Given the description of an element on the screen output the (x, y) to click on. 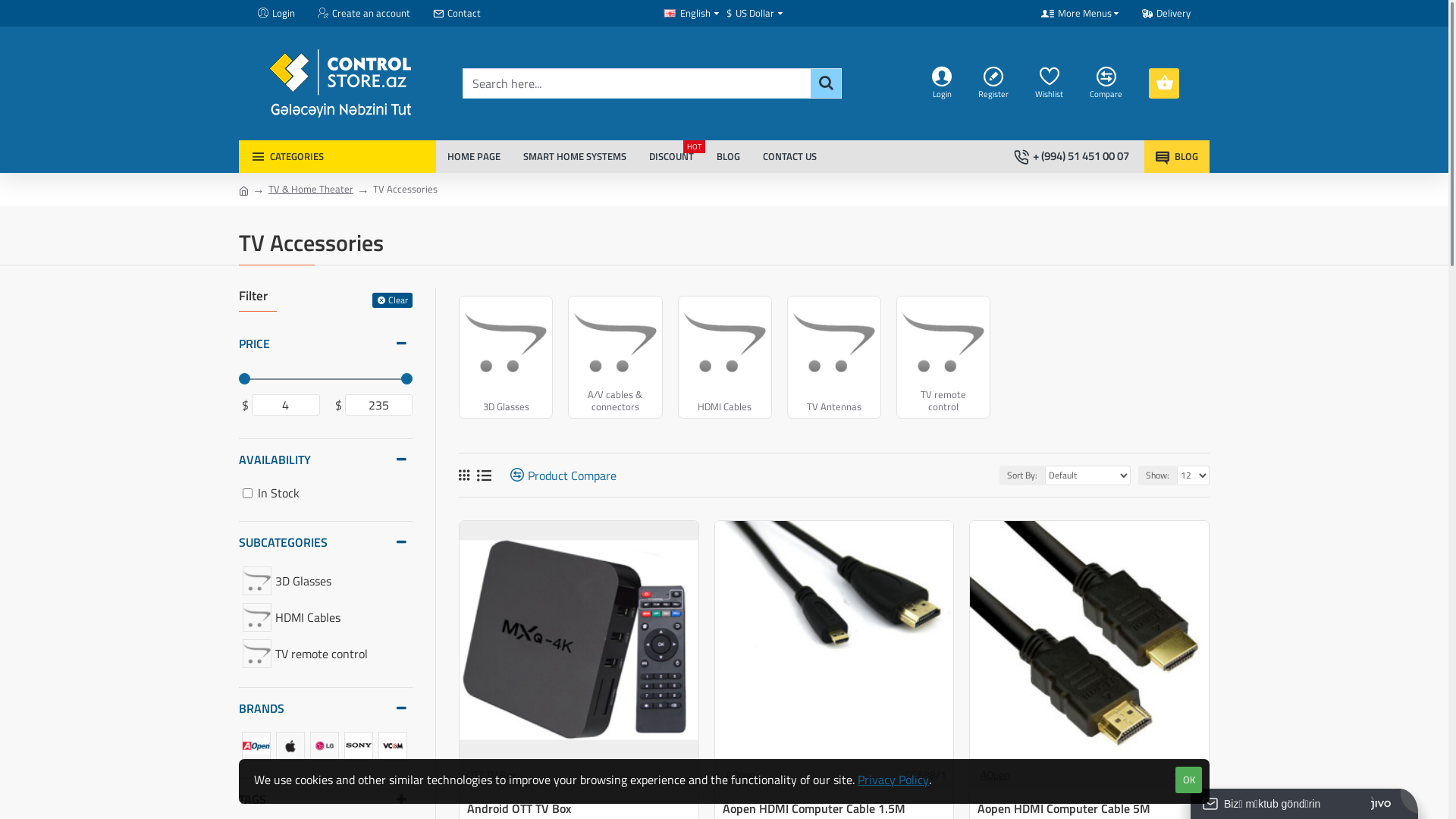
AVAILABILITY Element type: text (325, 459)
Privacy Policy Element type: text (892, 779)
Delivery Element type: text (1166, 13)
Product Compare Element type: text (557, 474)
SUBCATEGORIES Element type: text (325, 541)
BLOG Element type: text (1176, 156)
Aopen HDMI Computer  Cable 1.5M Element type: hover (834, 639)
HDMI Cables Element type: hover (256, 616)
TV remote control Element type: text (943, 356)
More Menus Element type: text (1080, 13)
TV Accessories Element type: text (405, 189)
English Element type: hover (670, 13)
$
US Dollar Element type: text (750, 13)
AOpen Element type: text (995, 774)
+ (994) 51 451 00 07 Element type: text (1073, 156)
Clear Element type: text (392, 299)
A/V cables & connectors Element type: text (614, 356)
Contact Element type: text (456, 13)
BRANDS Element type: text (325, 707)
Compare Element type: text (1107, 83)
Login Element type: text (276, 13)
Control Store Element type: hover (340, 83)
PRICE Element type: text (325, 343)
Aopen HDMI Computer  Cable 5M Element type: hover (1088, 639)
English Element type: text (687, 13)
Login Element type: text (943, 83)
CATEGORIES Element type: text (337, 156)
TV remote control Element type: hover (256, 653)
HOME PAGE Element type: text (473, 156)
Wishlist Element type: text (1050, 83)
Android OTT TV Box Element type: text (519, 808)
DISCOUNT
HOT Element type: text (671, 156)
BLOG Element type: text (728, 156)
OK Element type: text (1188, 779)
HDMI Cables Element type: text (724, 356)
3D Glasses Element type: text (505, 356)
CONTACT US Element type: text (789, 156)
TV Antennas Element type: text (834, 356)
3D Glasses Element type: hover (256, 580)
SMART HOME SYSTEMS Element type: text (574, 156)
Register Element type: text (995, 83)
Aopen HDMI Computer Cable 1.5M Element type: text (813, 808)
AOpen Element type: text (740, 774)
Android OTT TV Box Element type: hover (578, 639)
TV & Home Theater Element type: text (310, 189)
Create an account Element type: text (363, 13)
Aopen HDMI Computer Cable 5M Element type: text (1063, 808)
